Given the description of an element on the screen output the (x, y) to click on. 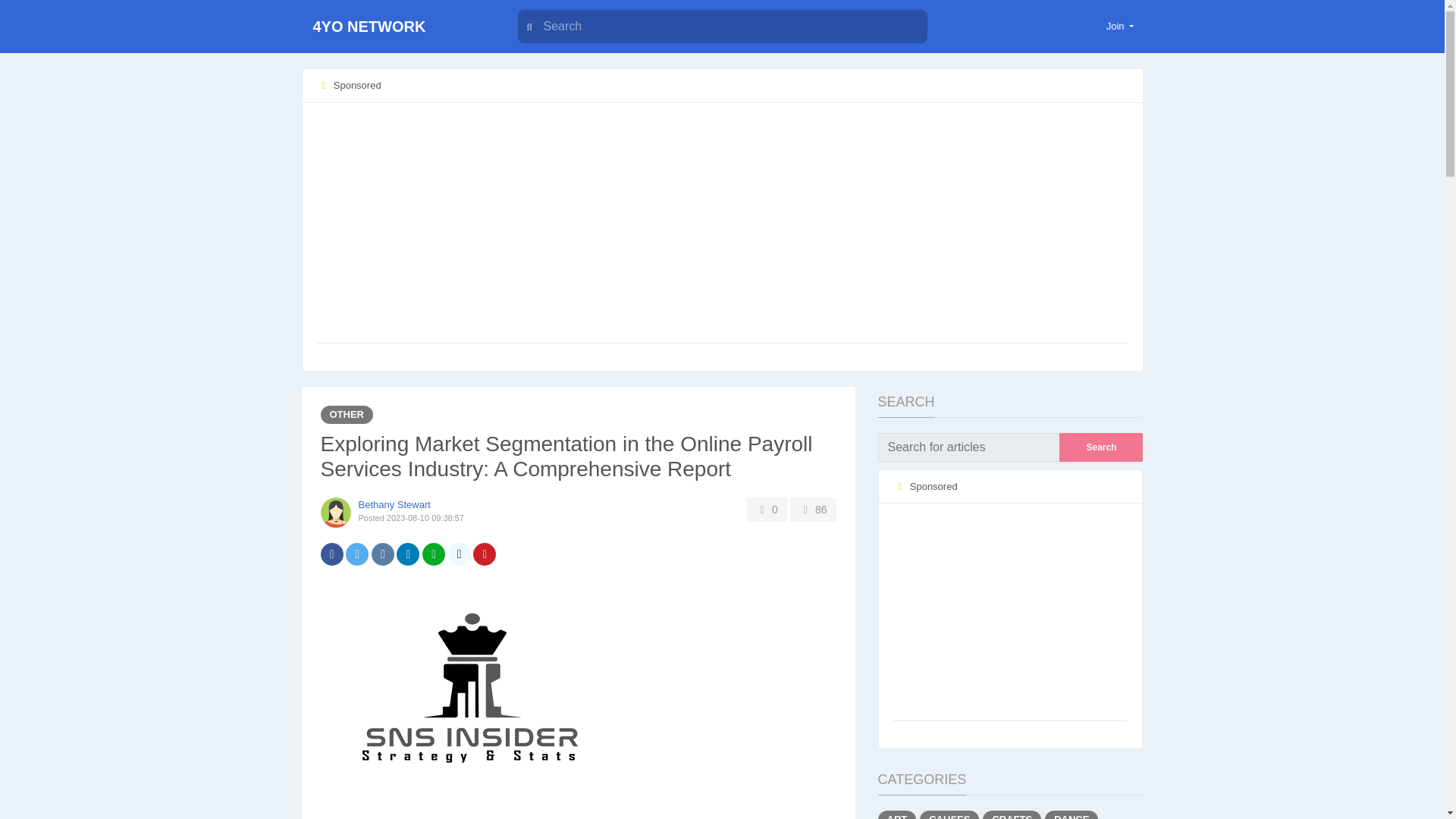
Advertisement (1009, 613)
OTHER (346, 413)
Bethany Stewart (393, 504)
0 (766, 509)
Join (1119, 26)
4YO NETWORK (396, 26)
